Given the description of an element on the screen output the (x, y) to click on. 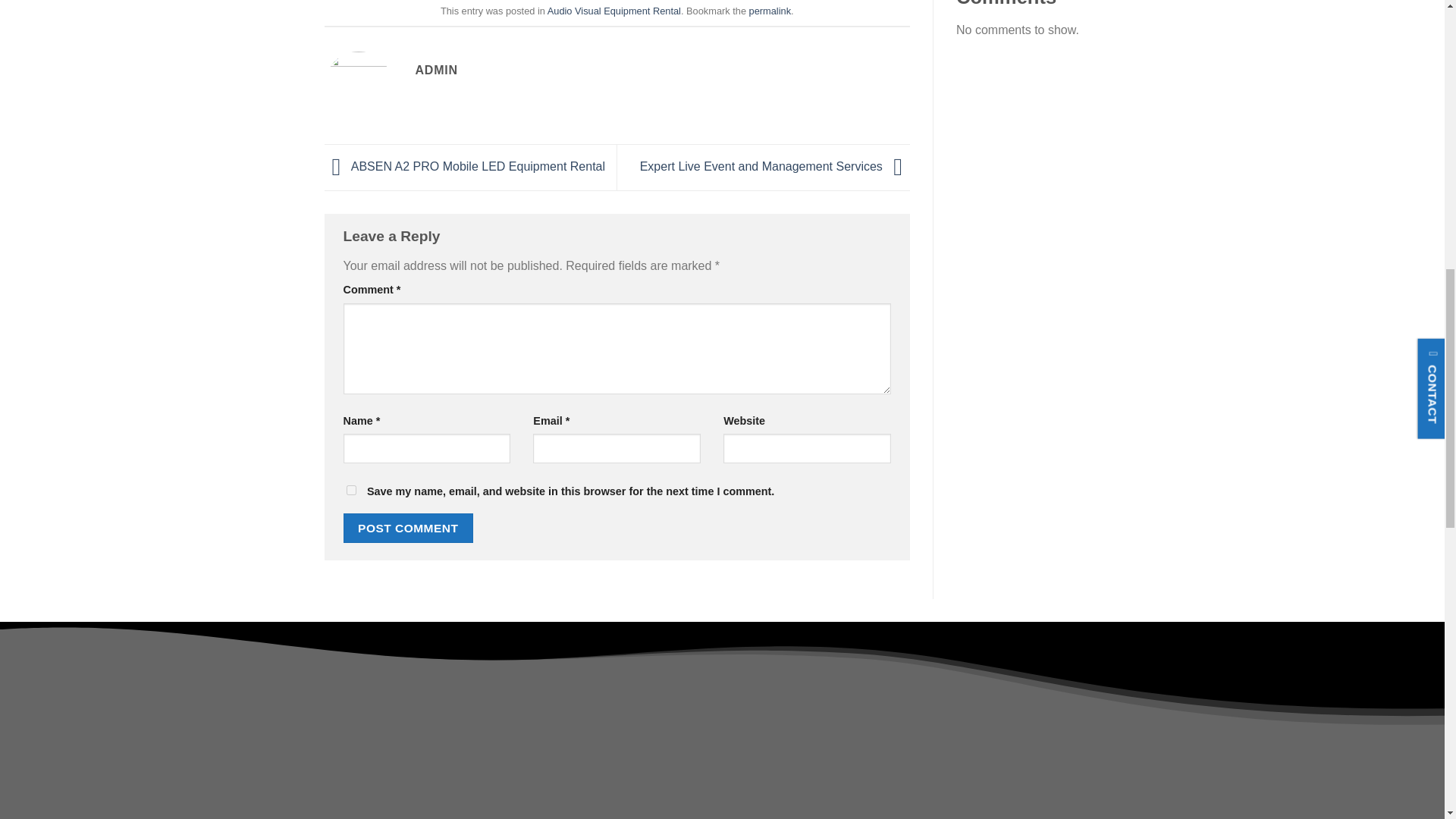
Post Comment (407, 527)
yes (350, 490)
